Given the description of an element on the screen output the (x, y) to click on. 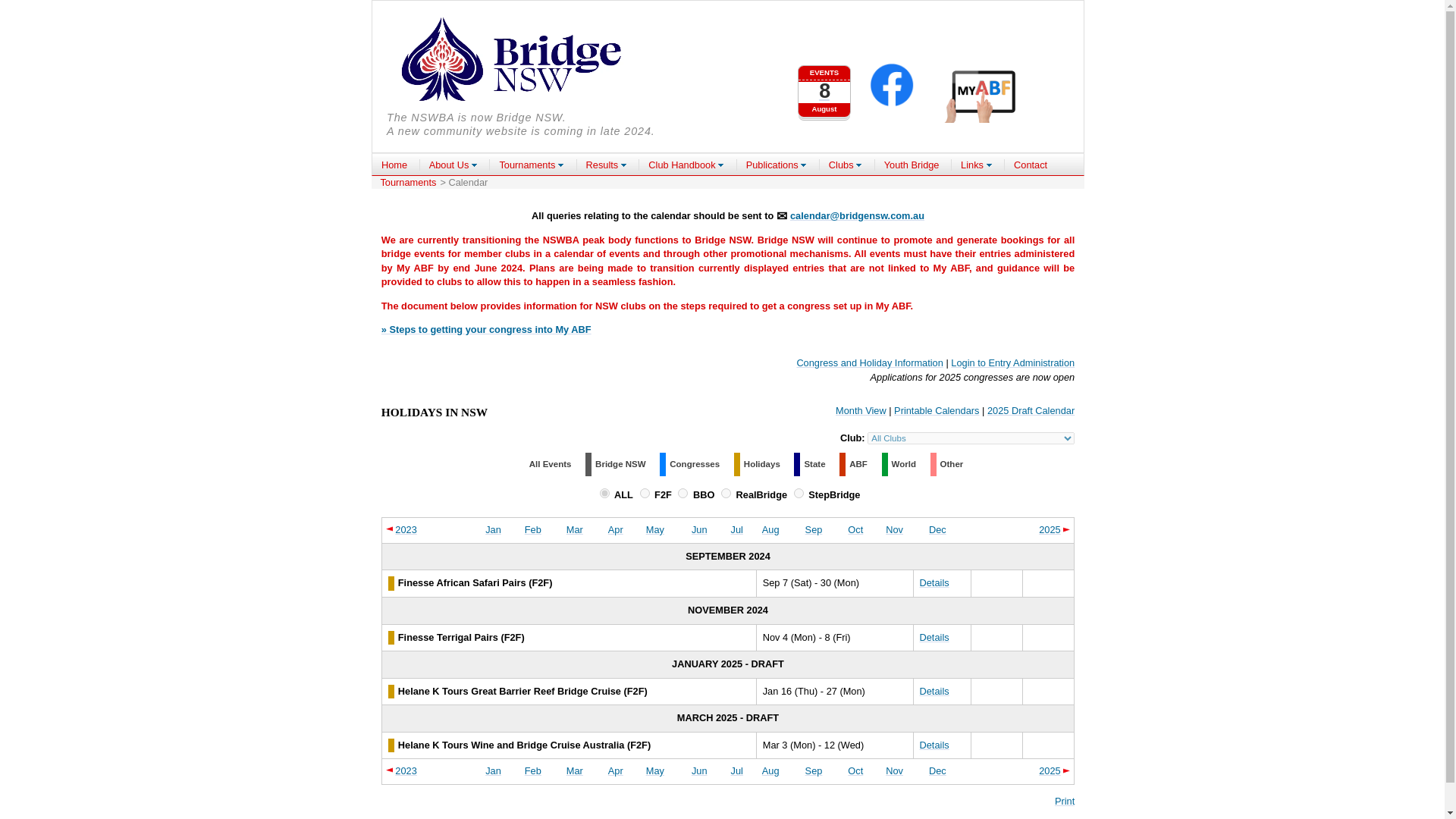
May (654, 529)
Oct 2024 (855, 529)
0 (603, 492)
Jan 2024 (492, 529)
About Us (453, 164)
Home (822, 84)
Jan (394, 164)
Publications (492, 529)
Month View (776, 164)
Tournaments (860, 410)
Youth Bridge (531, 164)
Aug 2024 (912, 164)
Mar 2024 (769, 529)
Jan 2024 (574, 529)
